Given the description of an element on the screen output the (x, y) to click on. 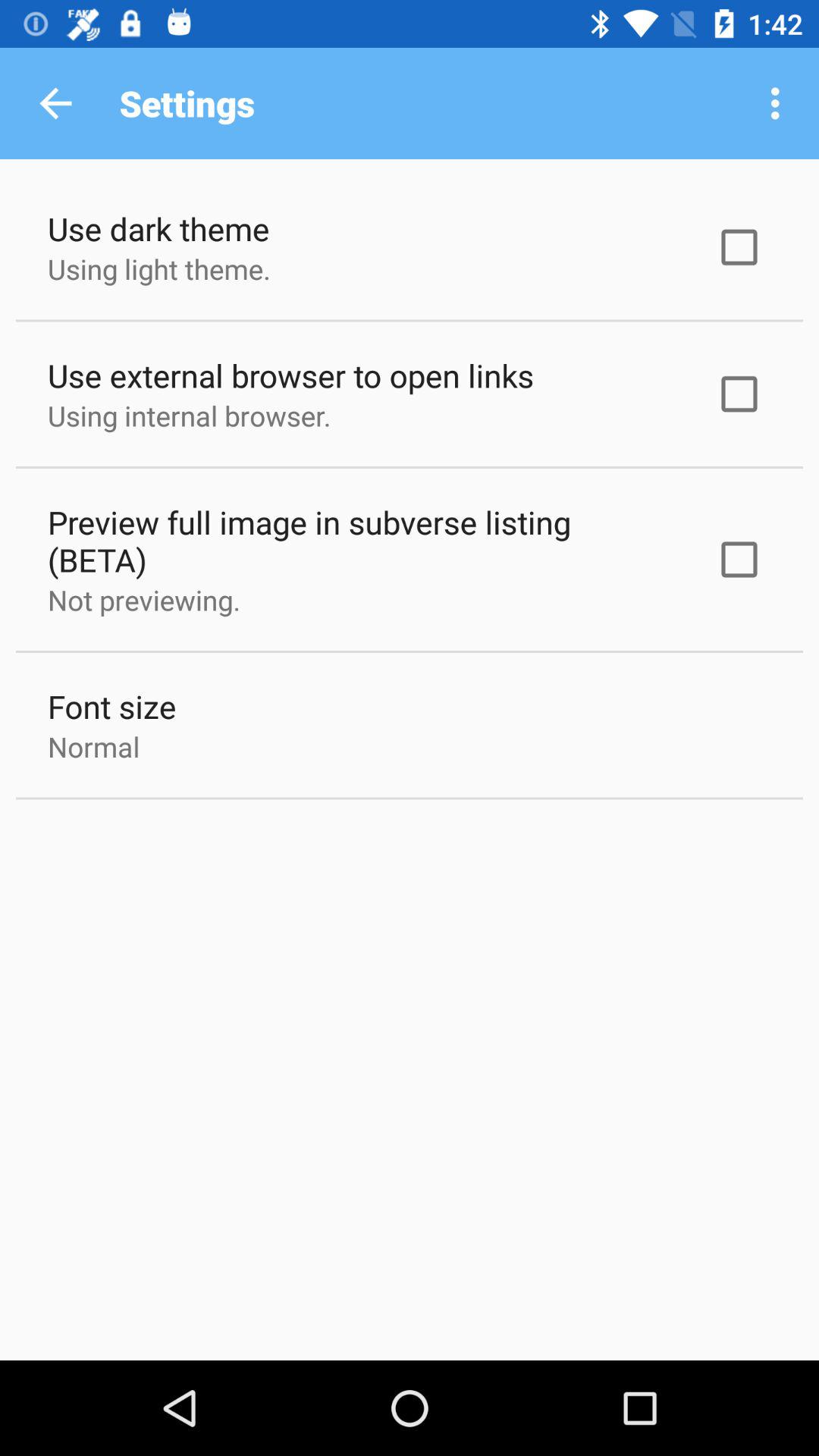
launch icon to the left of the settings (55, 103)
